Given the description of an element on the screen output the (x, y) to click on. 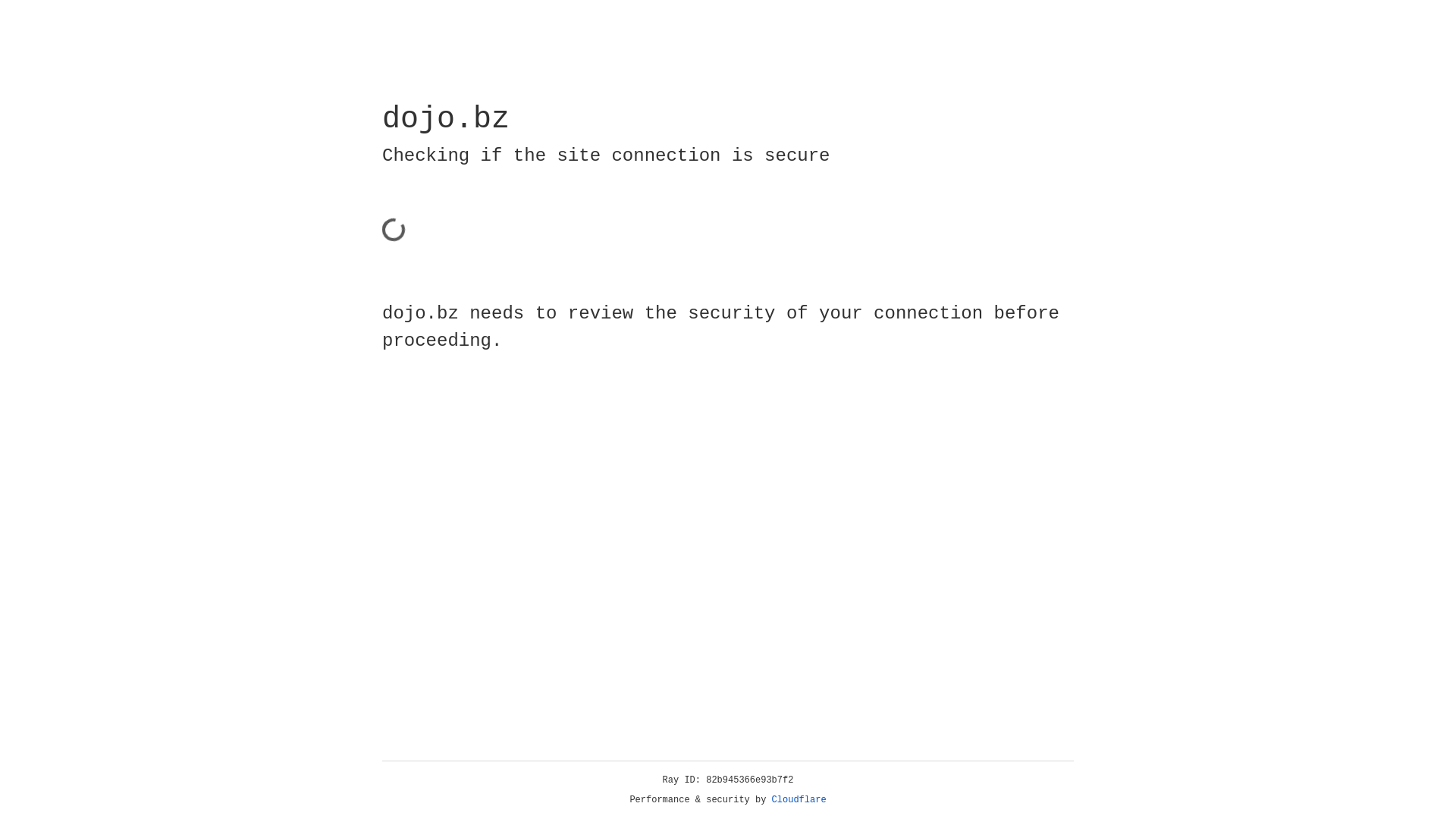
Cloudflare Element type: text (798, 799)
